Given the description of an element on the screen output the (x, y) to click on. 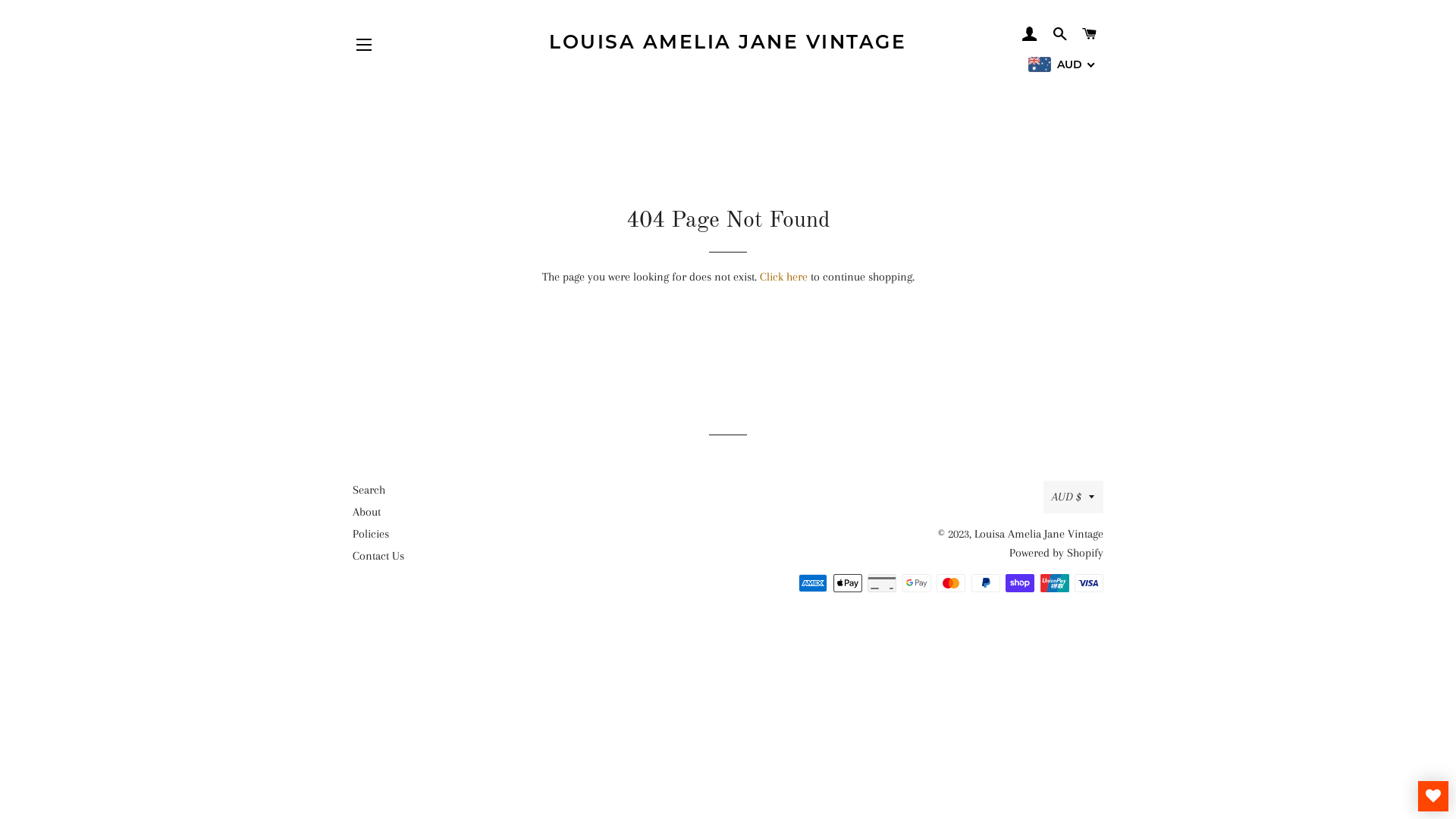
Search Element type: text (368, 489)
SEARCH Element type: text (1059, 33)
Powered by Shopify Element type: text (1056, 552)
FAVOURITES Element type: text (1433, 796)
AUD $ Element type: text (1073, 496)
CART Element type: text (1089, 33)
LOG IN Element type: text (1029, 33)
SITE NAVIGATION Element type: text (363, 44)
Louisa Amelia Jane Vintage Element type: text (1038, 533)
Policies Element type: text (370, 533)
Click here Element type: text (783, 276)
LOUISA AMELIA JANE VINTAGE Element type: text (727, 41)
About Element type: text (366, 511)
Contact Us Element type: text (378, 555)
